Given the description of an element on the screen output the (x, y) to click on. 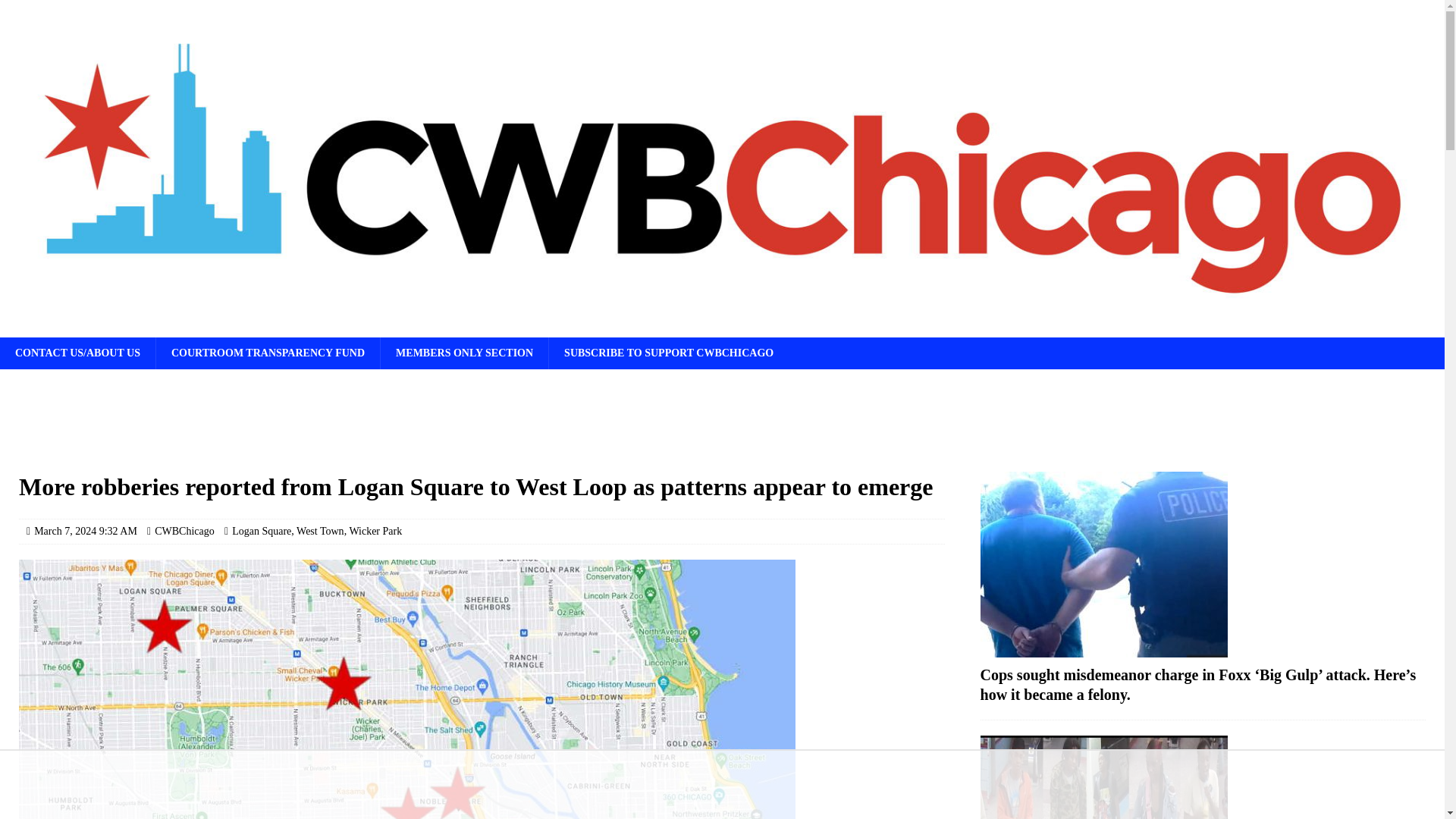
MEMBERS ONLY SECTION (464, 353)
West Town (320, 531)
Wicker Park (375, 531)
CWBChicago (184, 531)
COURTROOM TRANSPARENCY FUND (267, 353)
Logan Square (261, 531)
March 7, 2024 9:32 AM (84, 531)
SUBSCRIBE TO SUPPORT CWBCHICAGO (668, 353)
